Given the description of an element on the screen output the (x, y) to click on. 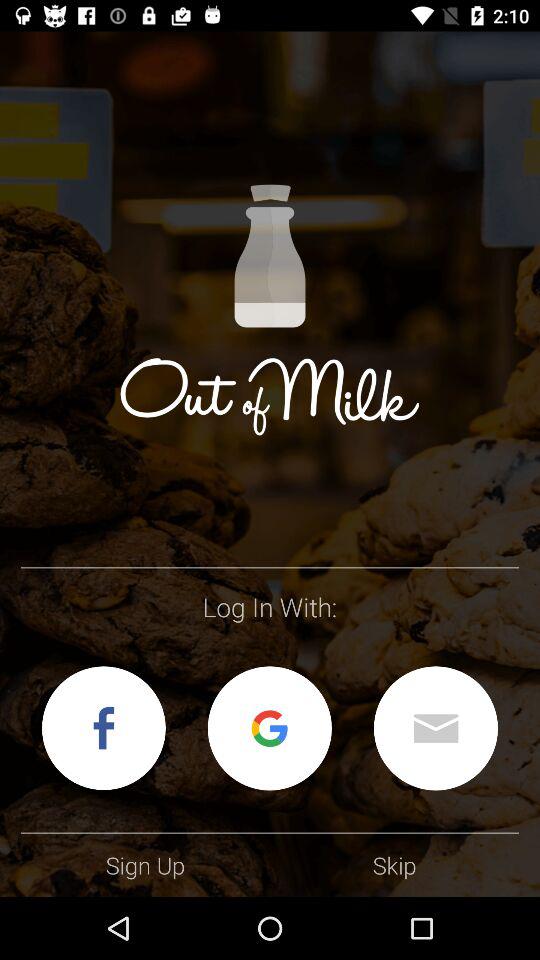
click to log on with your google account (269, 728)
